Given the description of an element on the screen output the (x, y) to click on. 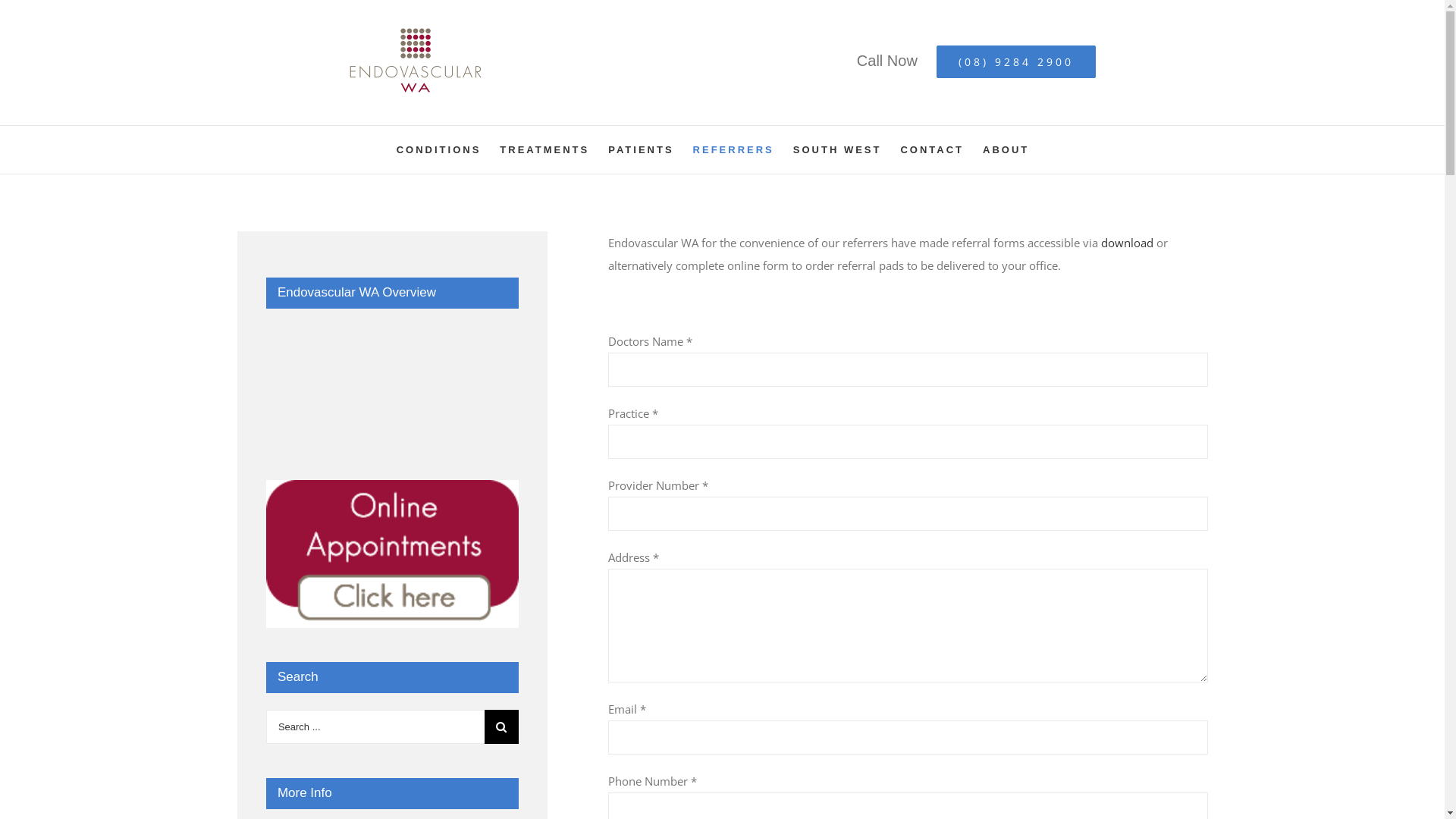
CONDITIONS Element type: text (438, 149)
SOUTH WEST Element type: text (837, 149)
CONTACT Element type: text (931, 149)
(08) 9284 2900 Element type: text (1015, 61)
REFERRERS Element type: text (733, 149)
TREATMENTS Element type: text (544, 149)
PATIENTS Element type: text (640, 149)
ABOUT Element type: text (1005, 149)
download Element type: text (1127, 242)
